Given the description of an element on the screen output the (x, y) to click on. 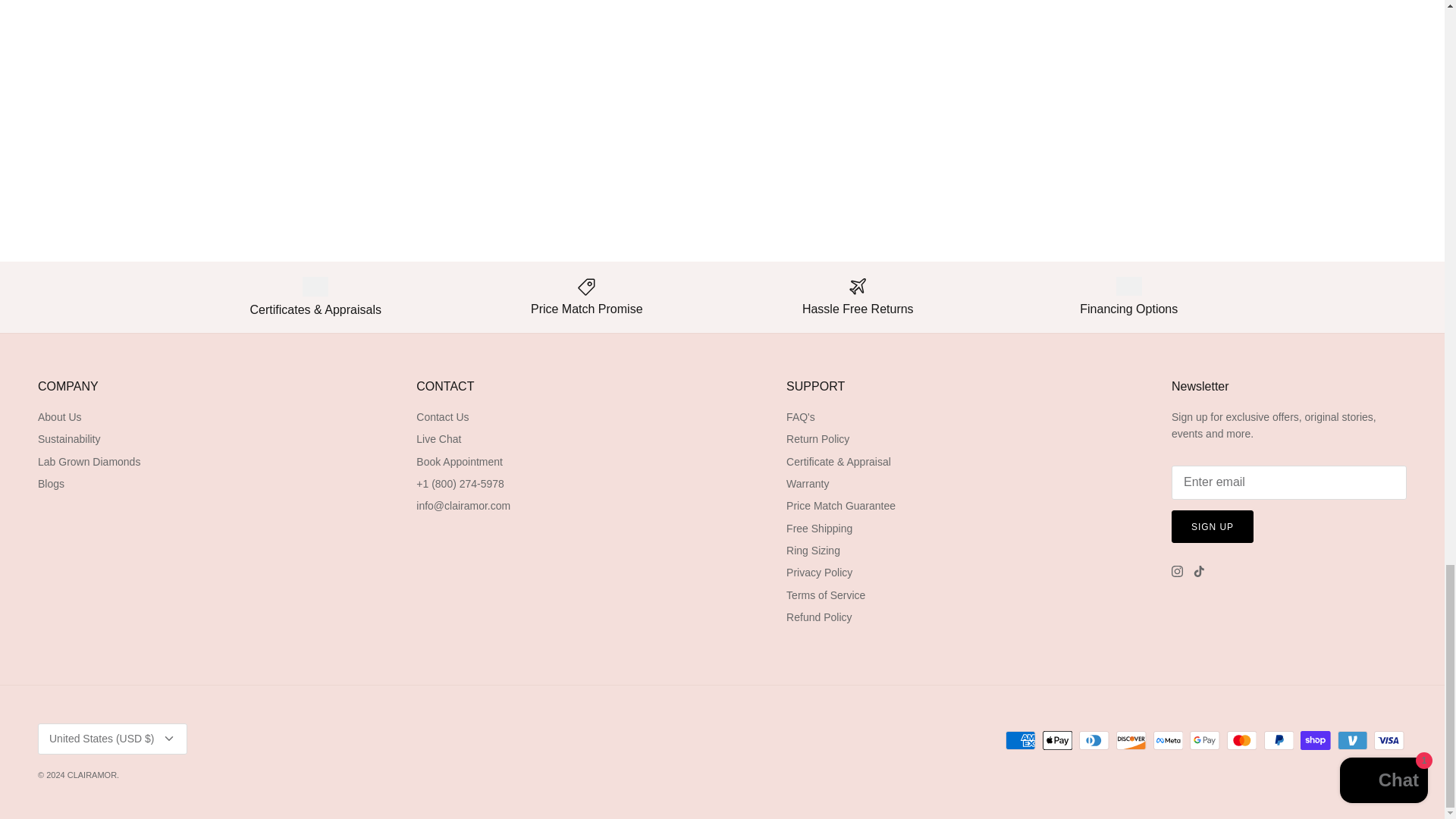
Diners Club (1093, 740)
Instagram (1177, 571)
American Express (1020, 740)
Google Pay (1204, 740)
Discover (1130, 740)
Apple Pay (1057, 740)
Meta Pay (1168, 740)
